Given the description of an element on the screen output the (x, y) to click on. 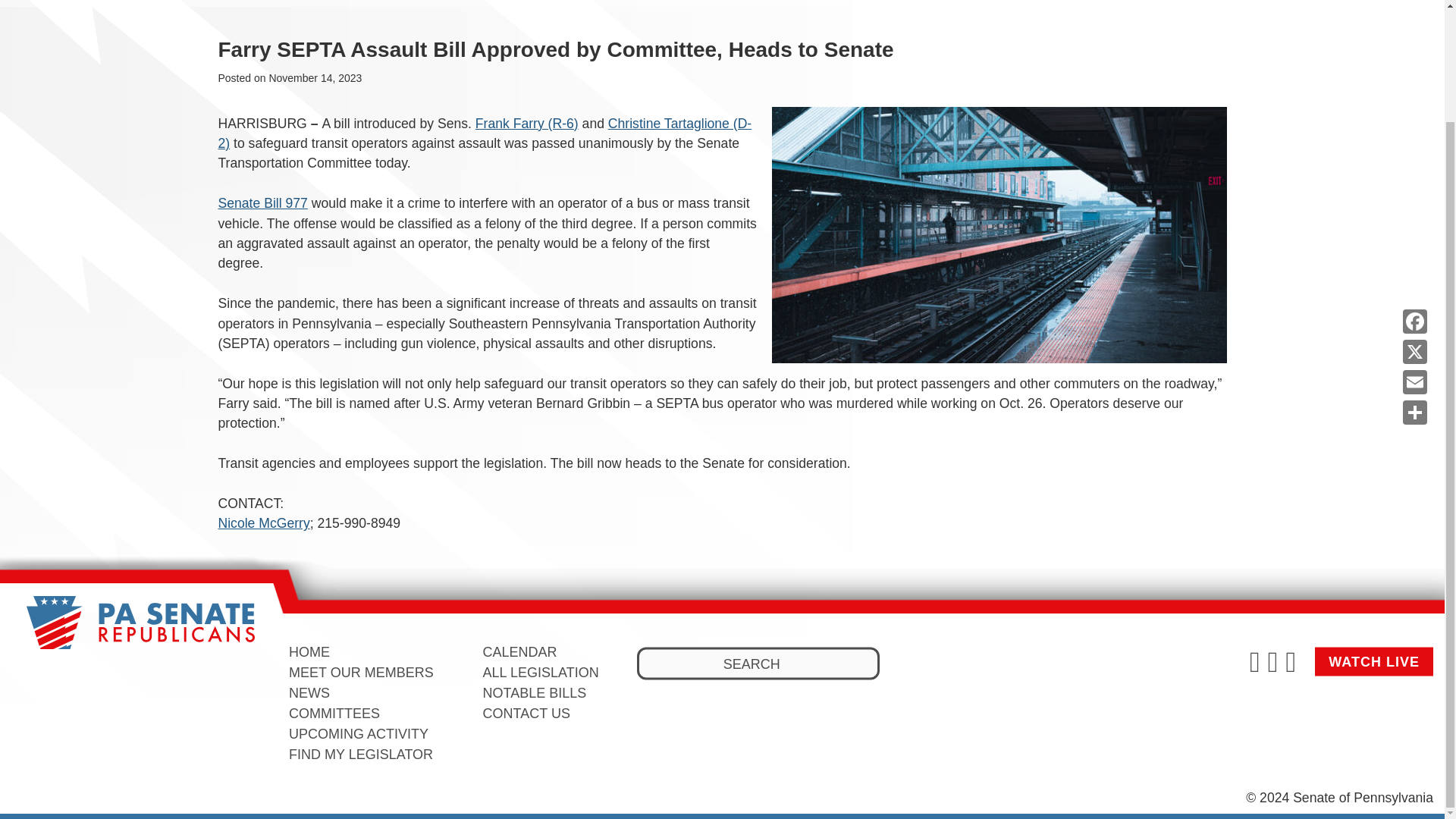
Search for: (758, 663)
Facebook (1414, 188)
X (1414, 218)
Email (1414, 249)
